Given the description of an element on the screen output the (x, y) to click on. 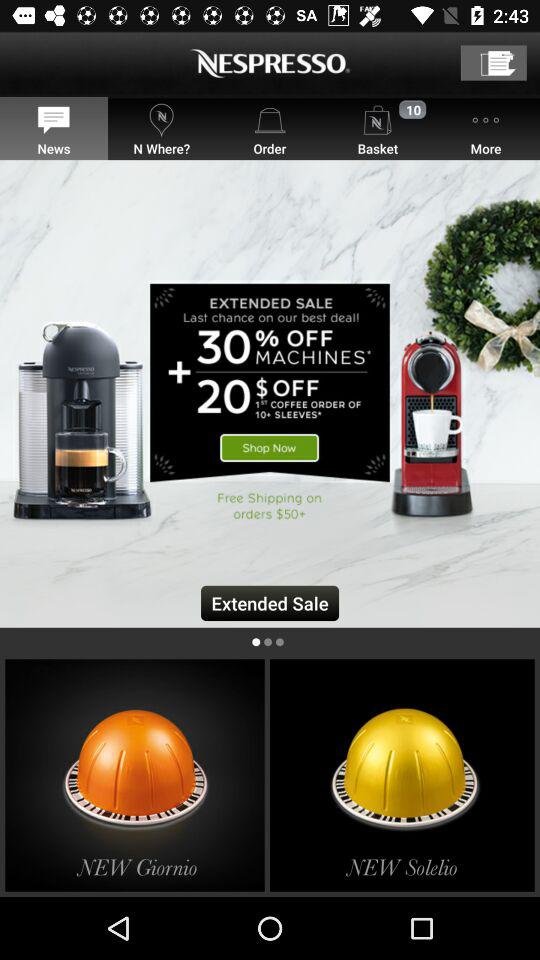
click on new solelio (402, 774)
click   on notes icon (494, 62)
